Given the description of an element on the screen output the (x, y) to click on. 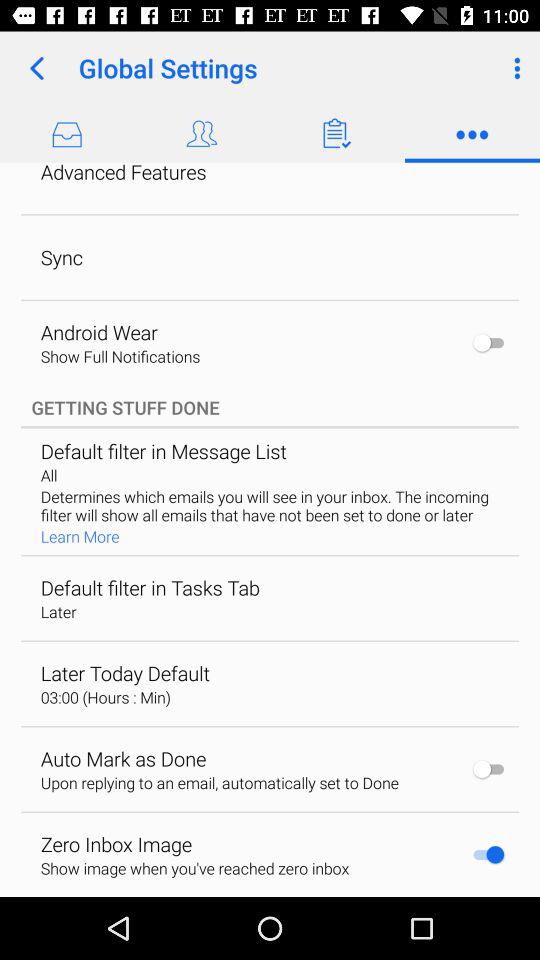
select the sync (61, 257)
